Given the description of an element on the screen output the (x, y) to click on. 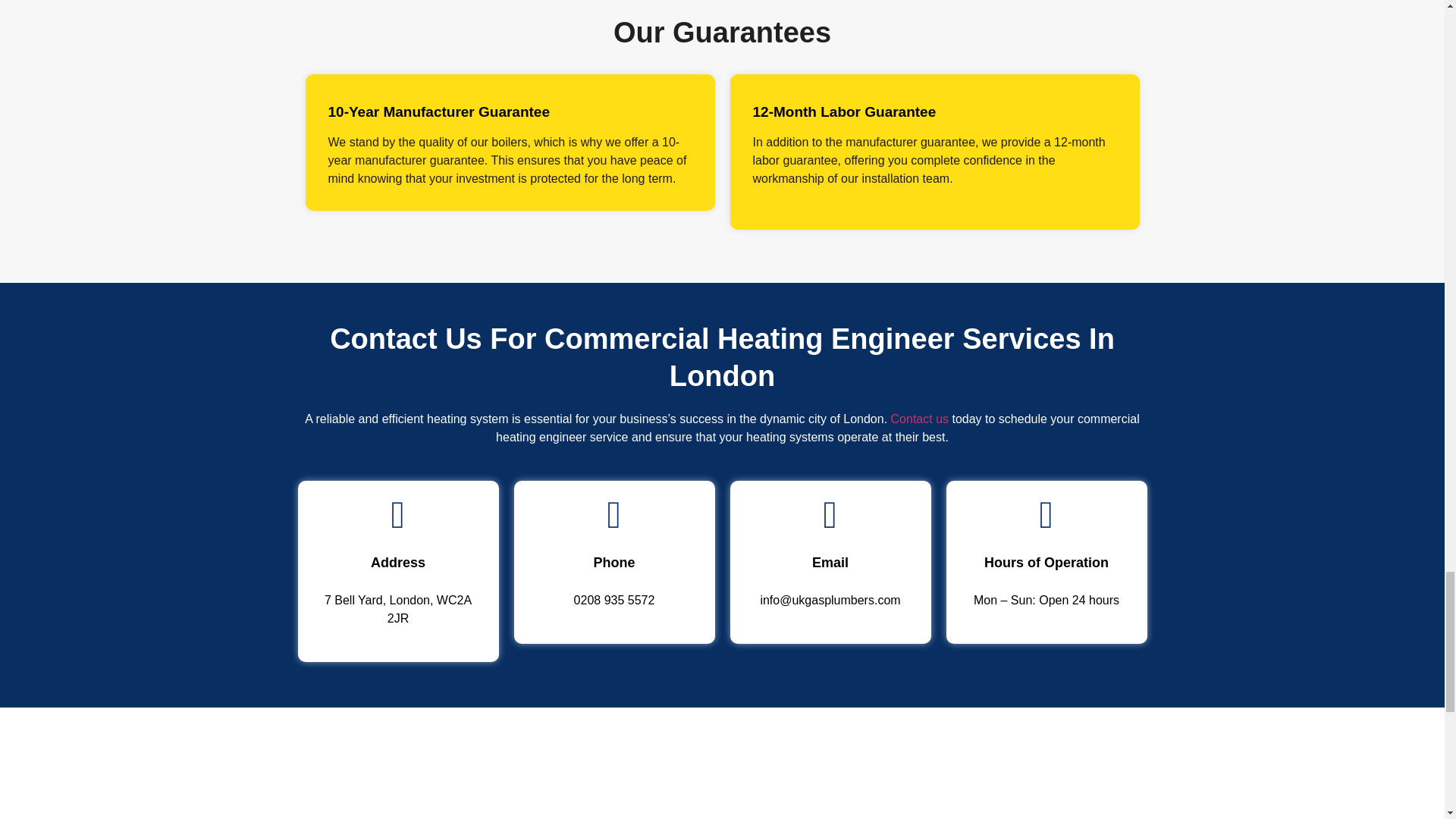
Phone (613, 562)
Email (830, 562)
Contact us (920, 418)
Contact us (920, 418)
